Given the description of an element on the screen output the (x, y) to click on. 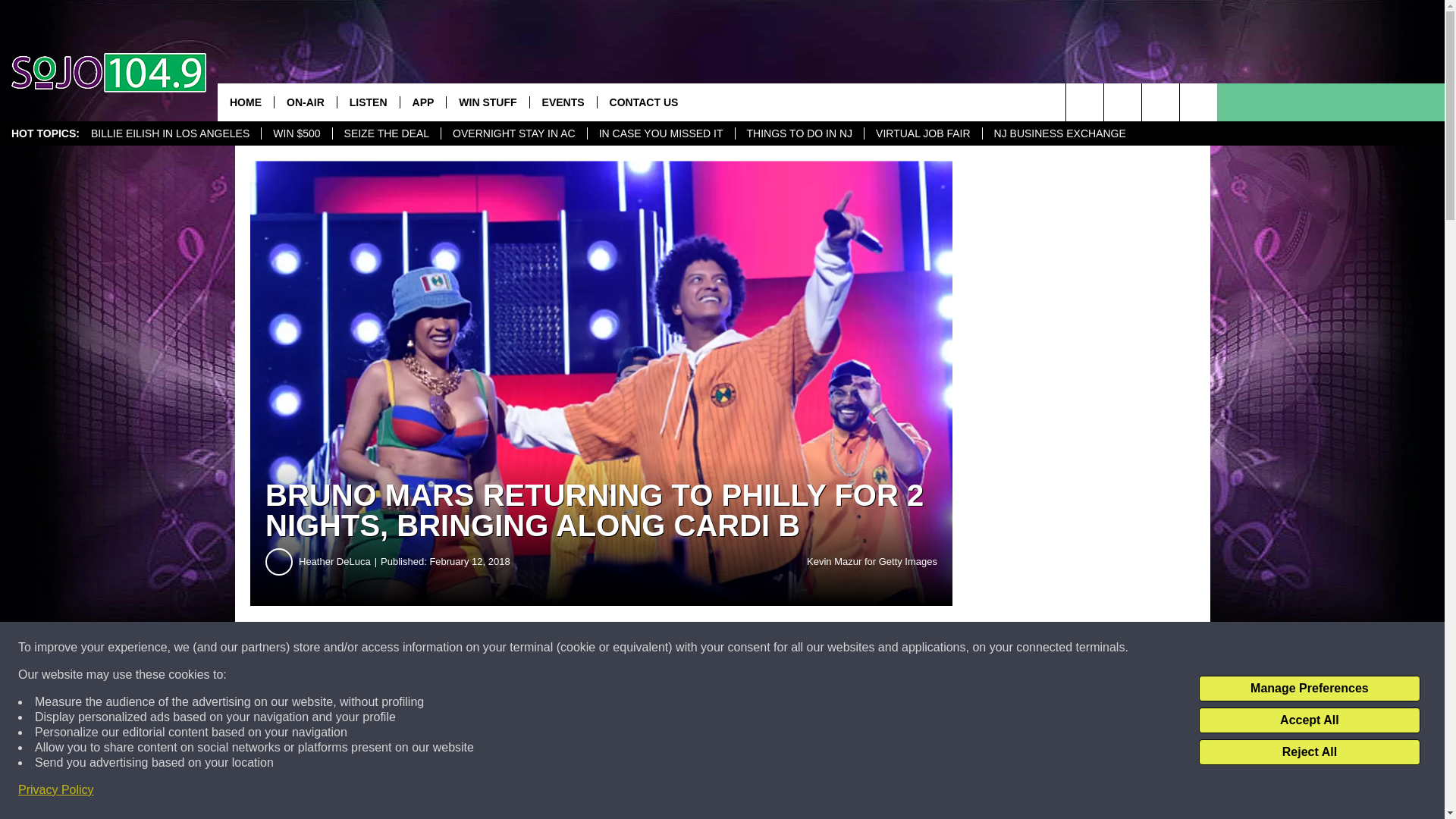
Share on Facebook (460, 647)
NJ BUSINESS EXCHANGE (1059, 133)
OVERNIGHT STAY IN AC (513, 133)
ON-AIR (304, 102)
LISTEN (367, 102)
HOME (244, 102)
BILLIE EILISH IN LOS ANGELES (170, 133)
THINGS TO DO IN NJ (799, 133)
Privacy Policy (55, 789)
Reject All (1309, 751)
